Given the description of an element on the screen output the (x, y) to click on. 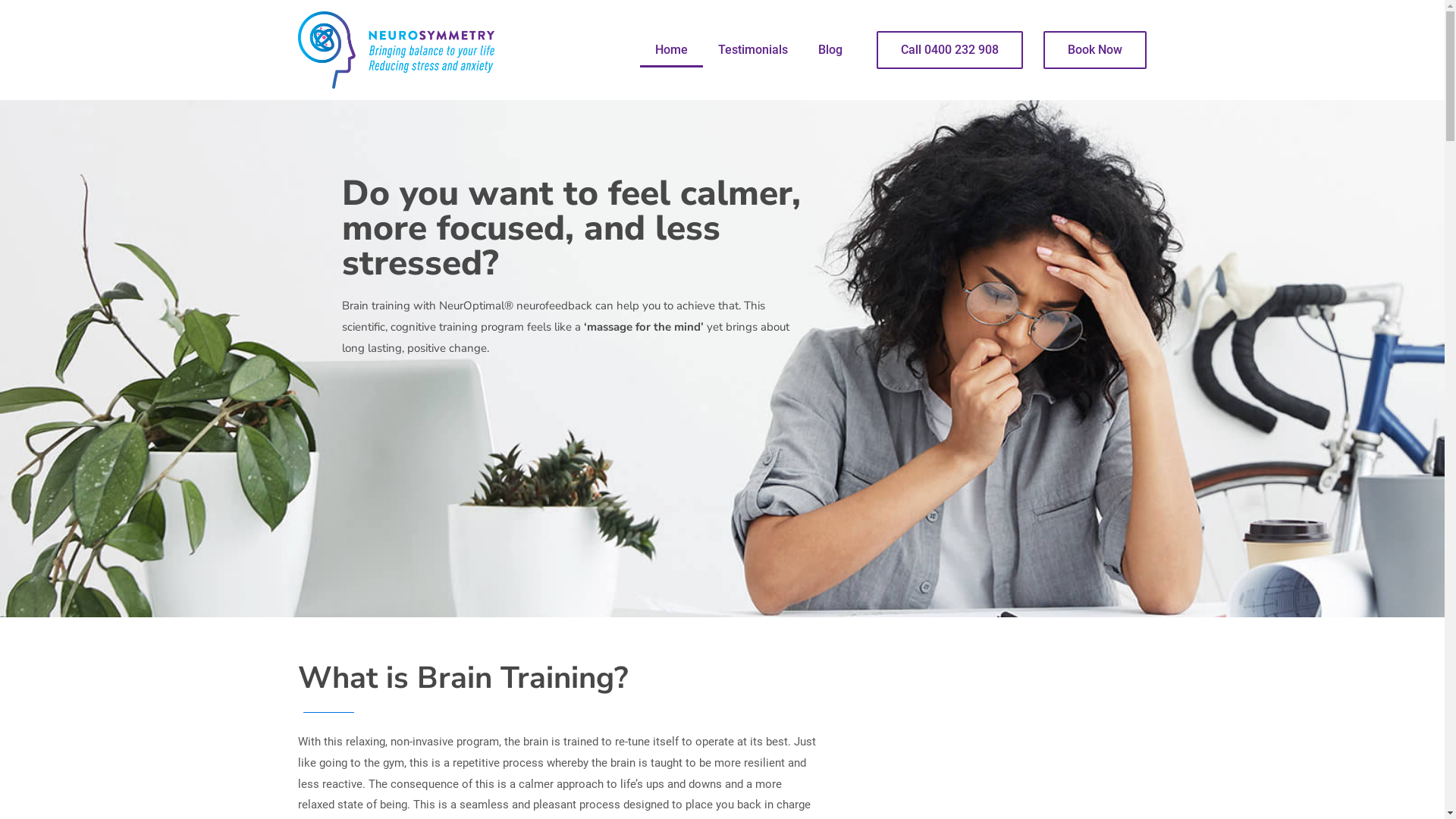
Book Now Element type: text (1094, 50)
Blog Element type: text (830, 49)
Call 0400 232 908 Element type: text (949, 50)
Testimonials Element type: text (752, 49)
Home Element type: text (671, 49)
